Given the description of an element on the screen output the (x, y) to click on. 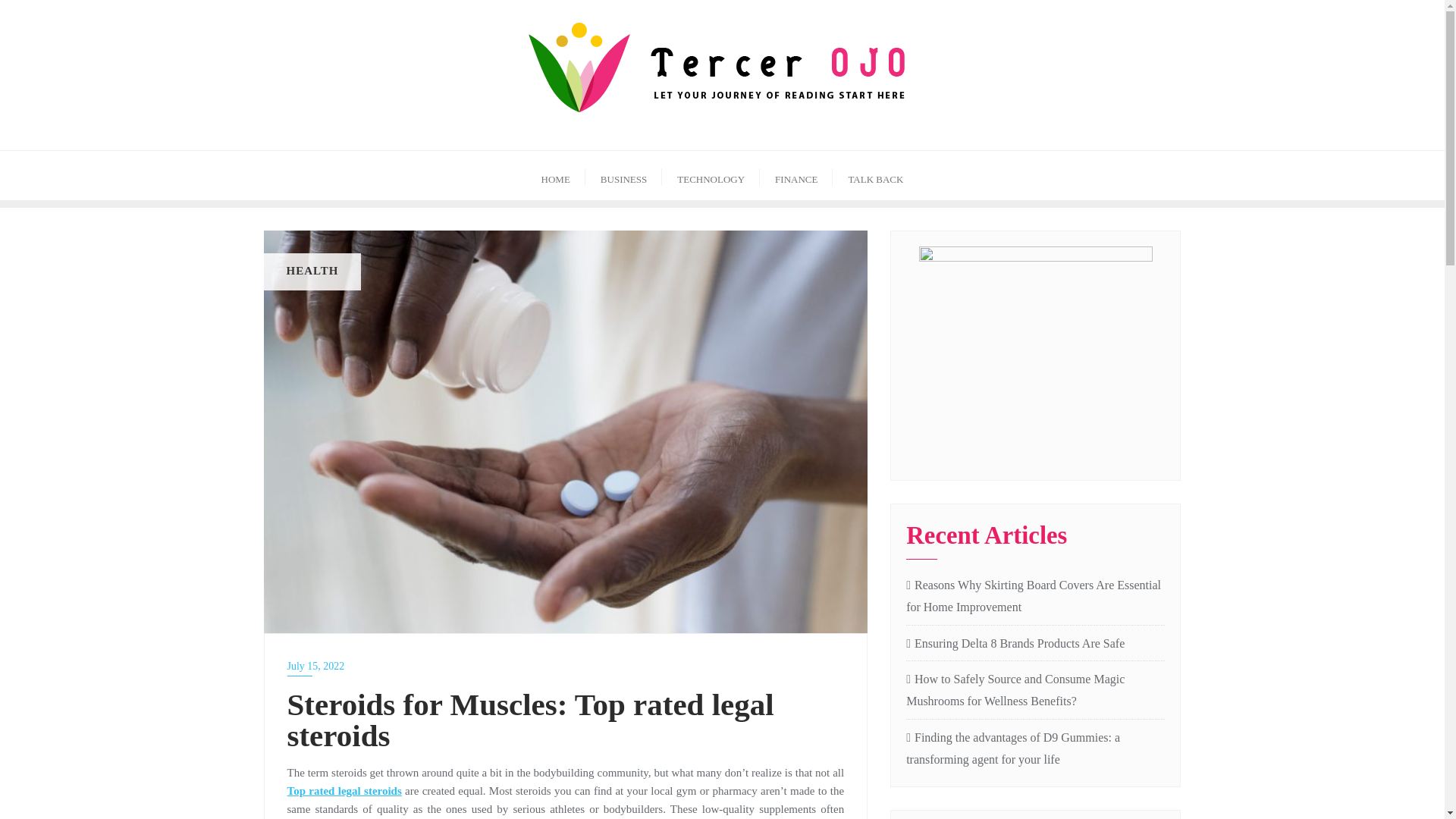
FINANCE (796, 174)
TECHNOLOGY (711, 174)
Ensuring Delta 8 Brands Products Are Safe (1034, 644)
BUSINESS (623, 174)
HOME (555, 174)
July 15, 2022 (565, 665)
Top rated legal steroids (343, 789)
